Given the description of an element on the screen output the (x, y) to click on. 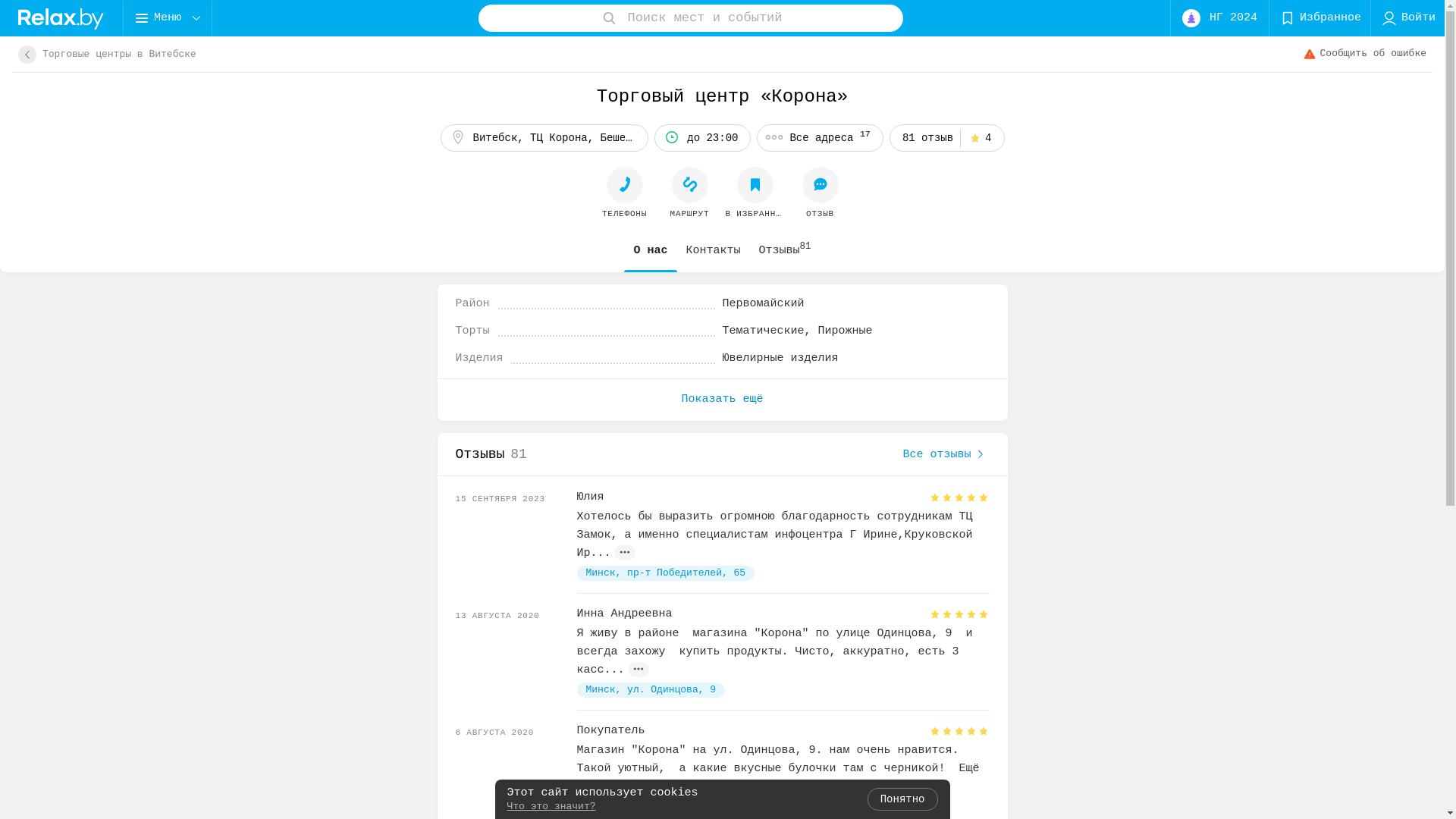
logo Element type: hover (61, 18)
